Given the description of an element on the screen output the (x, y) to click on. 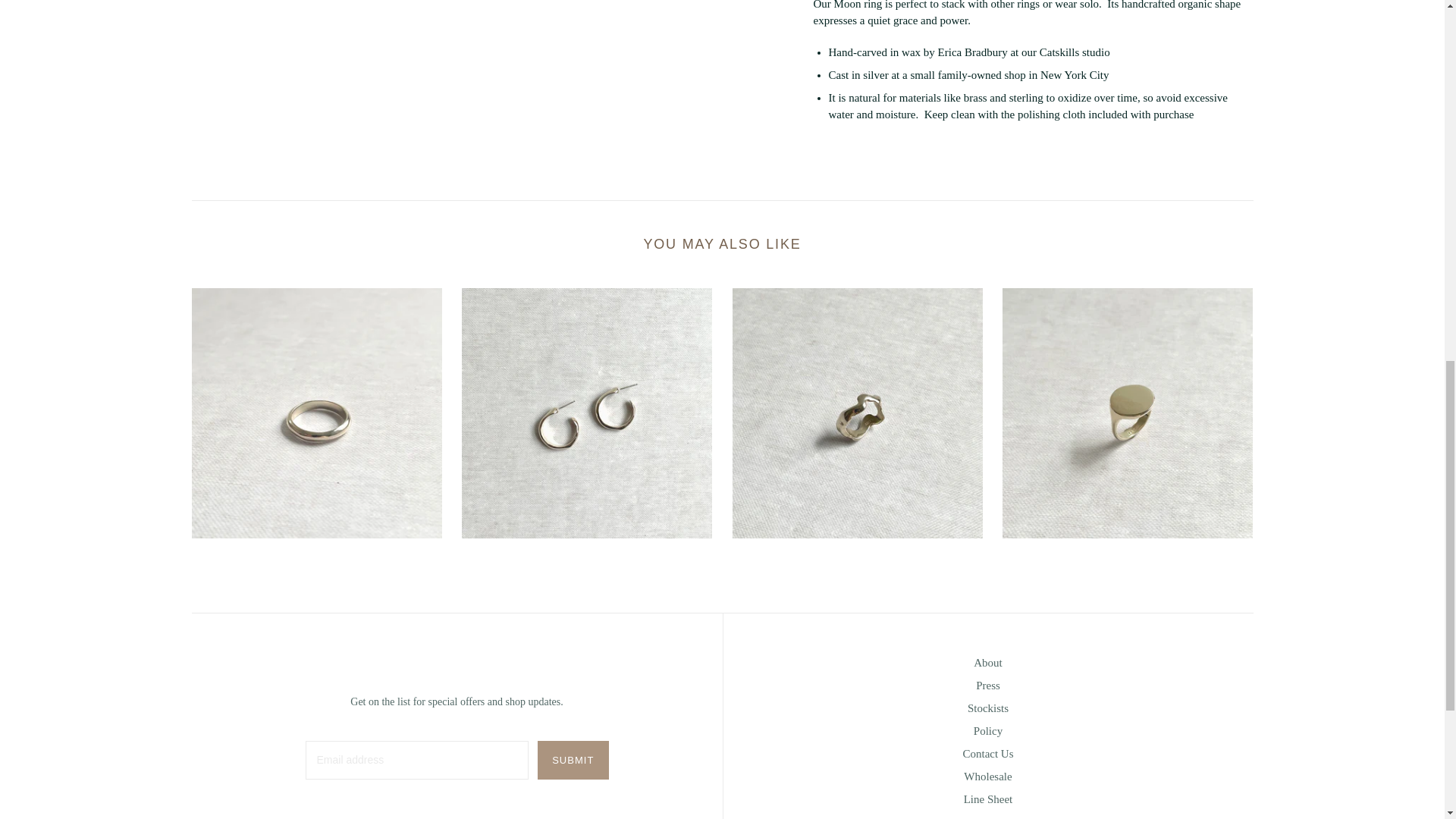
Submit (572, 760)
